Given the description of an element on the screen output the (x, y) to click on. 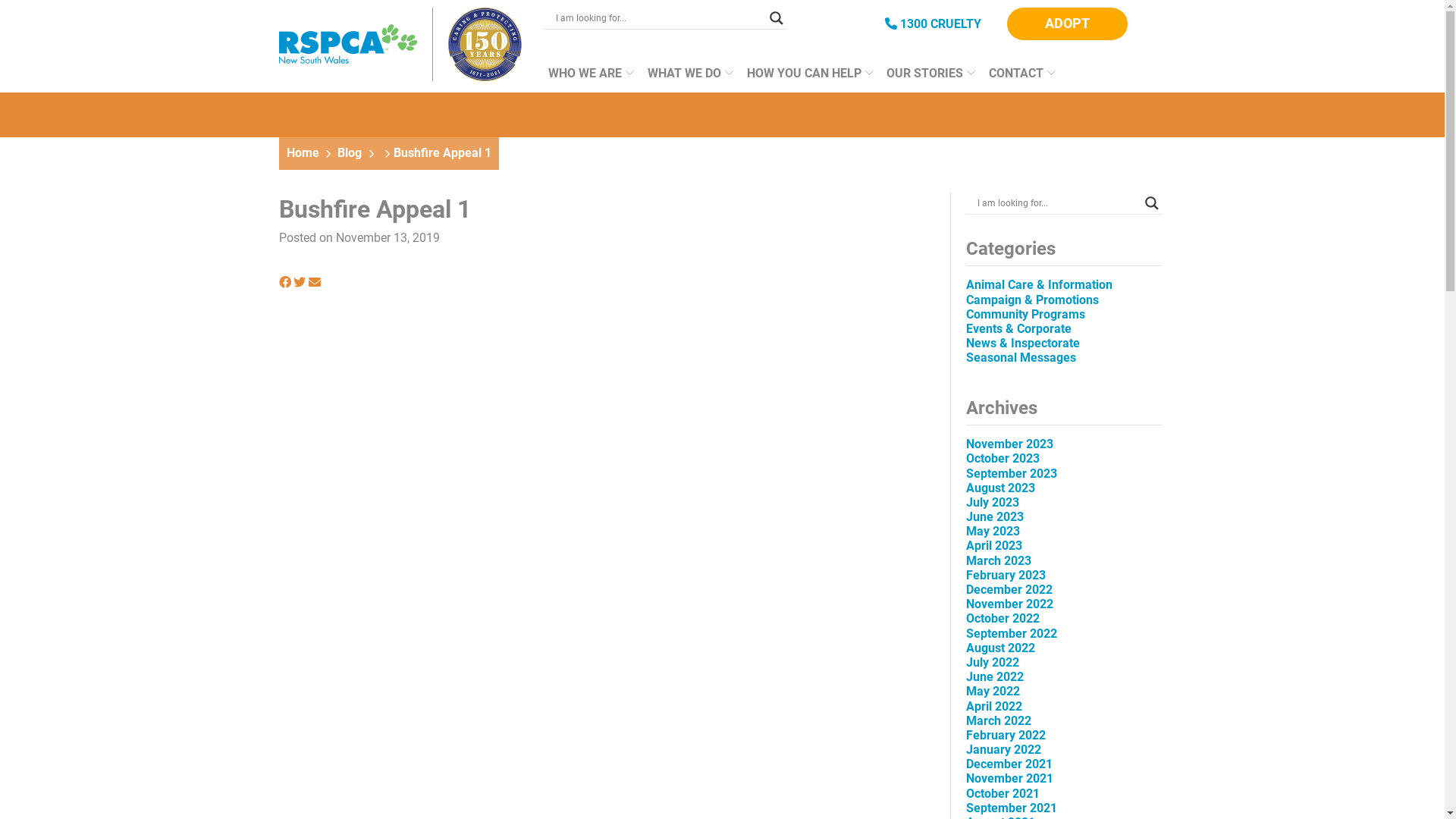
Community Programs Element type: text (1025, 314)
October 2022 Element type: text (1002, 618)
April 2022 Element type: text (994, 706)
December 2021 Element type: text (1009, 763)
July 2022 Element type: text (992, 662)
Events & Corporate Element type: text (1018, 328)
January 2022 Element type: text (1003, 749)
August 2023 Element type: text (1000, 487)
HOW YOU CAN HELP Element type: text (805, 78)
ADOPT Element type: text (1067, 23)
June 2023 Element type: text (994, 516)
July 2023 Element type: text (992, 502)
1300 CRUELTY Element type: text (932, 23)
OUR STORIES Element type: text (926, 78)
February 2023 Element type: text (1005, 574)
WHAT WE DO Element type: text (686, 78)
November 2022 Element type: text (1009, 603)
June 2022 Element type: text (994, 676)
October 2021 Element type: text (1002, 793)
Animal Care & Information Element type: text (1039, 284)
August 2022 Element type: text (1000, 647)
February 2022 Element type: text (1005, 735)
November 2021 Element type: text (1009, 778)
May 2023 Element type: text (992, 531)
September 2021 Element type: text (1011, 807)
CONTACT Element type: text (1018, 78)
November 2023 Element type: text (1009, 443)
March 2023 Element type: text (998, 560)
Campaign & Promotions Element type: text (1032, 299)
October 2023 Element type: text (1002, 458)
News & Inspectorate Element type: text (1022, 342)
May 2022 Element type: text (992, 691)
September 2022 Element type: text (1011, 633)
September 2023 Element type: text (1011, 473)
March 2022 Element type: text (998, 720)
Blog Element type: text (349, 152)
WHO WE ARE Element type: text (587, 78)
April 2023 Element type: text (994, 545)
Seasonal Messages Element type: text (1021, 357)
December 2022 Element type: text (1009, 589)
Home Element type: text (302, 152)
